Given the description of an element on the screen output the (x, y) to click on. 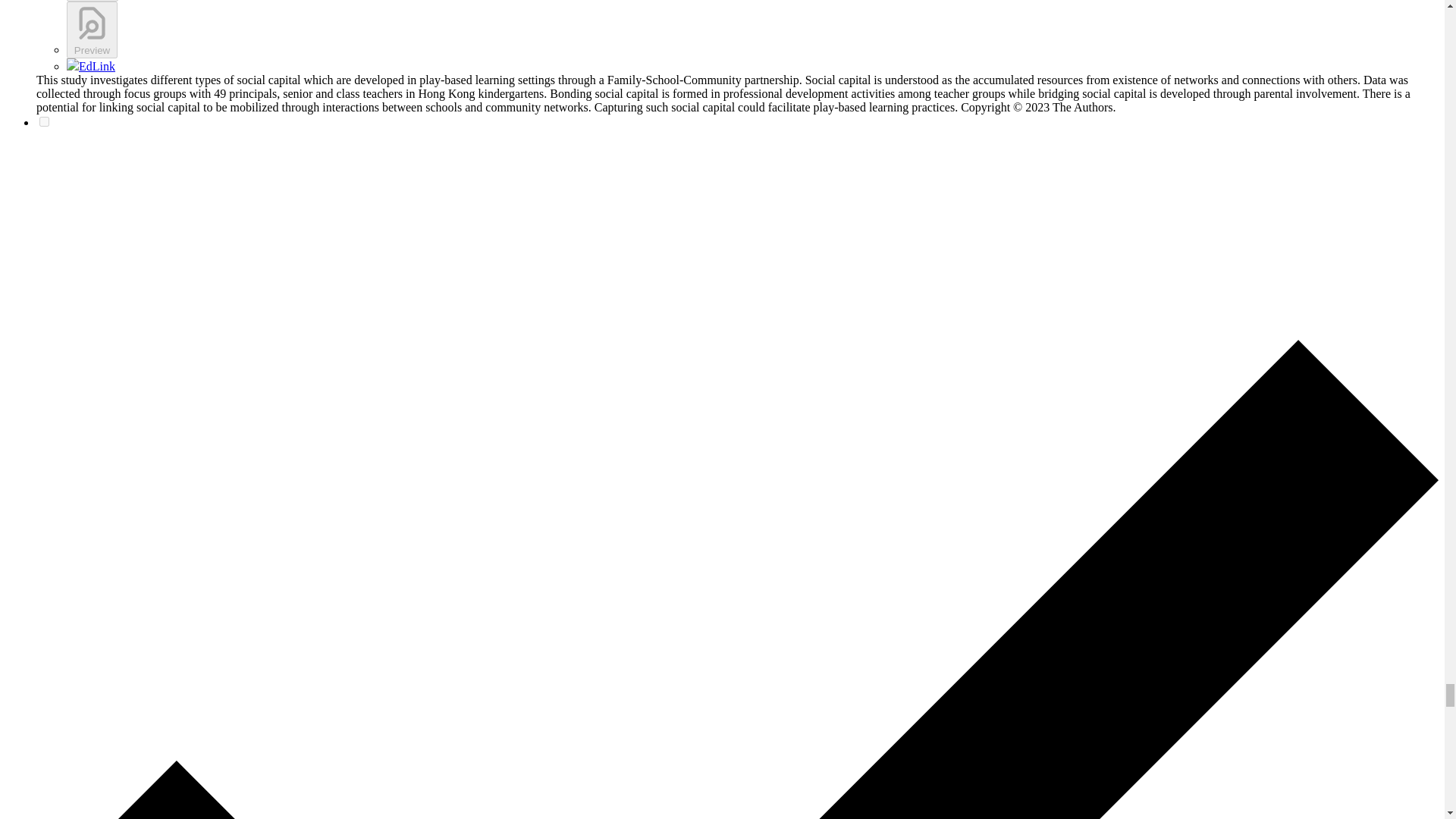
Abstract (91, 0)
